Given the description of an element on the screen output the (x, y) to click on. 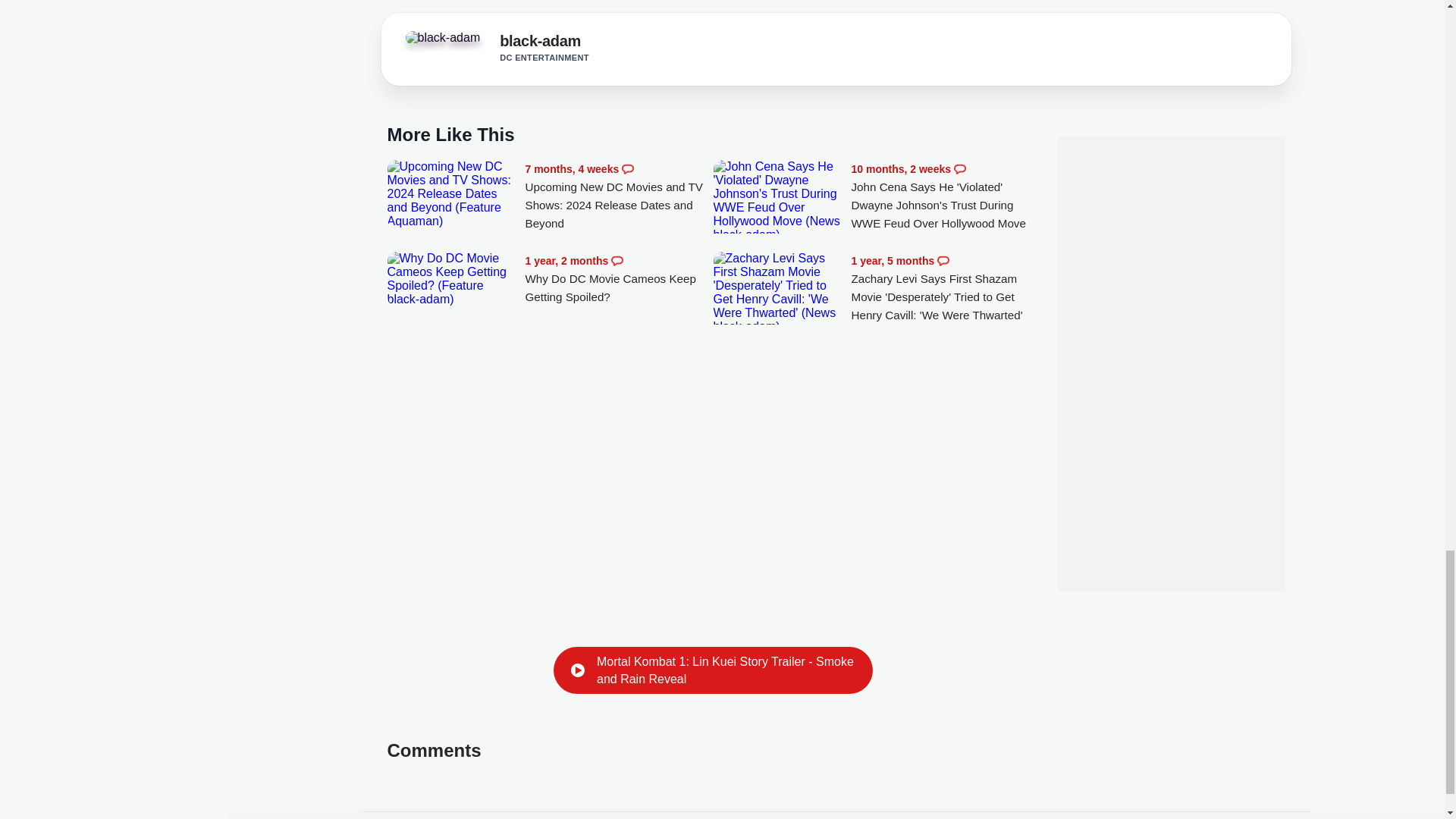
Comments (627, 168)
black-adam (448, 42)
Why Do DC Movie Cameos Keep Getting Spoiled? (451, 278)
Comments (959, 168)
black-adam (539, 43)
Why Do DC Movie Cameos Keep Getting Spoiled? (618, 279)
